Given the description of an element on the screen output the (x, y) to click on. 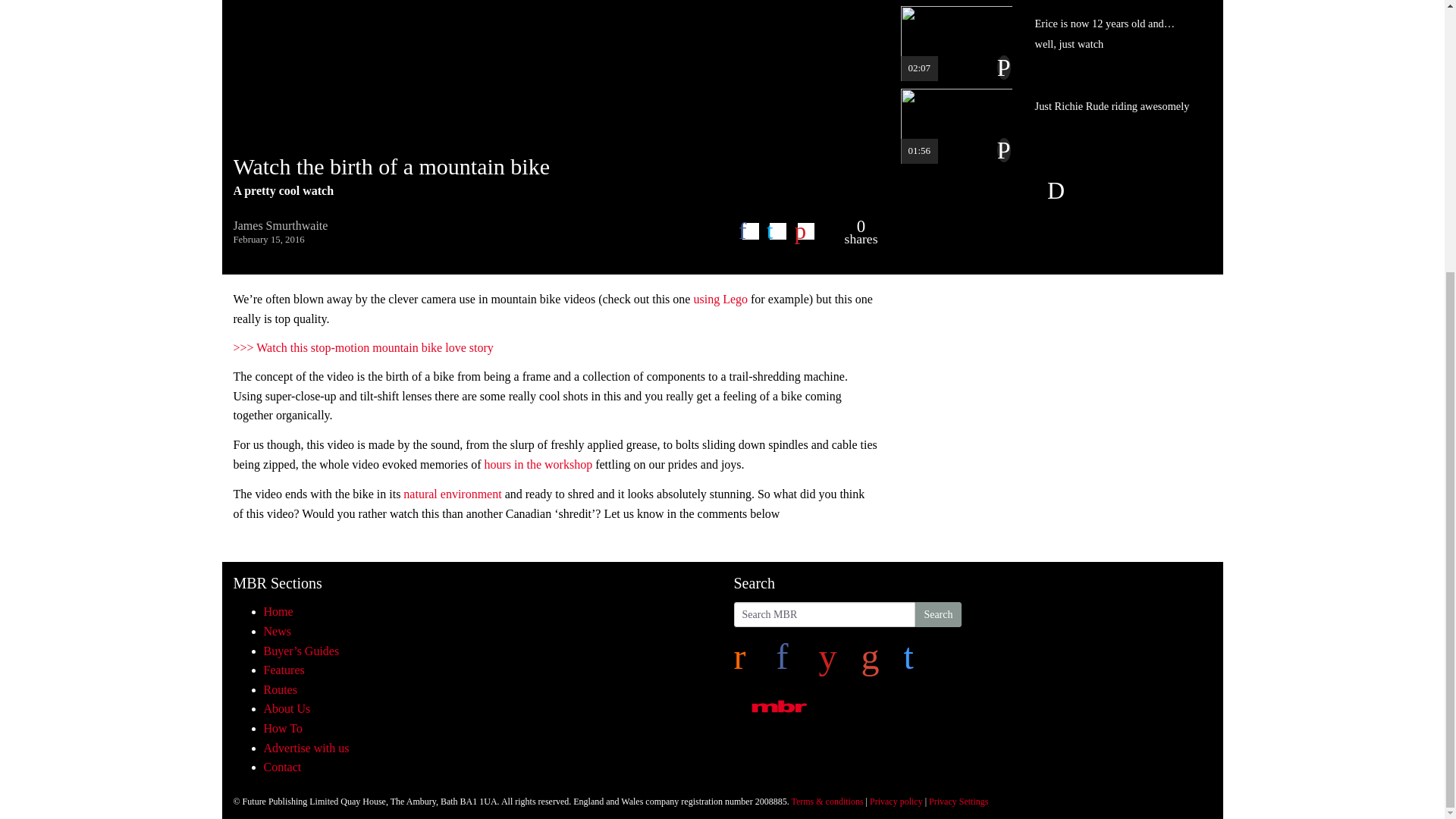
James Smurthwaite (280, 225)
MACRO GENESIS - a bike comes to life (554, 70)
James Smurthwaite's Profile (280, 225)
Just Richie Rude riding awesomely (1050, 125)
